Given the description of an element on the screen output the (x, y) to click on. 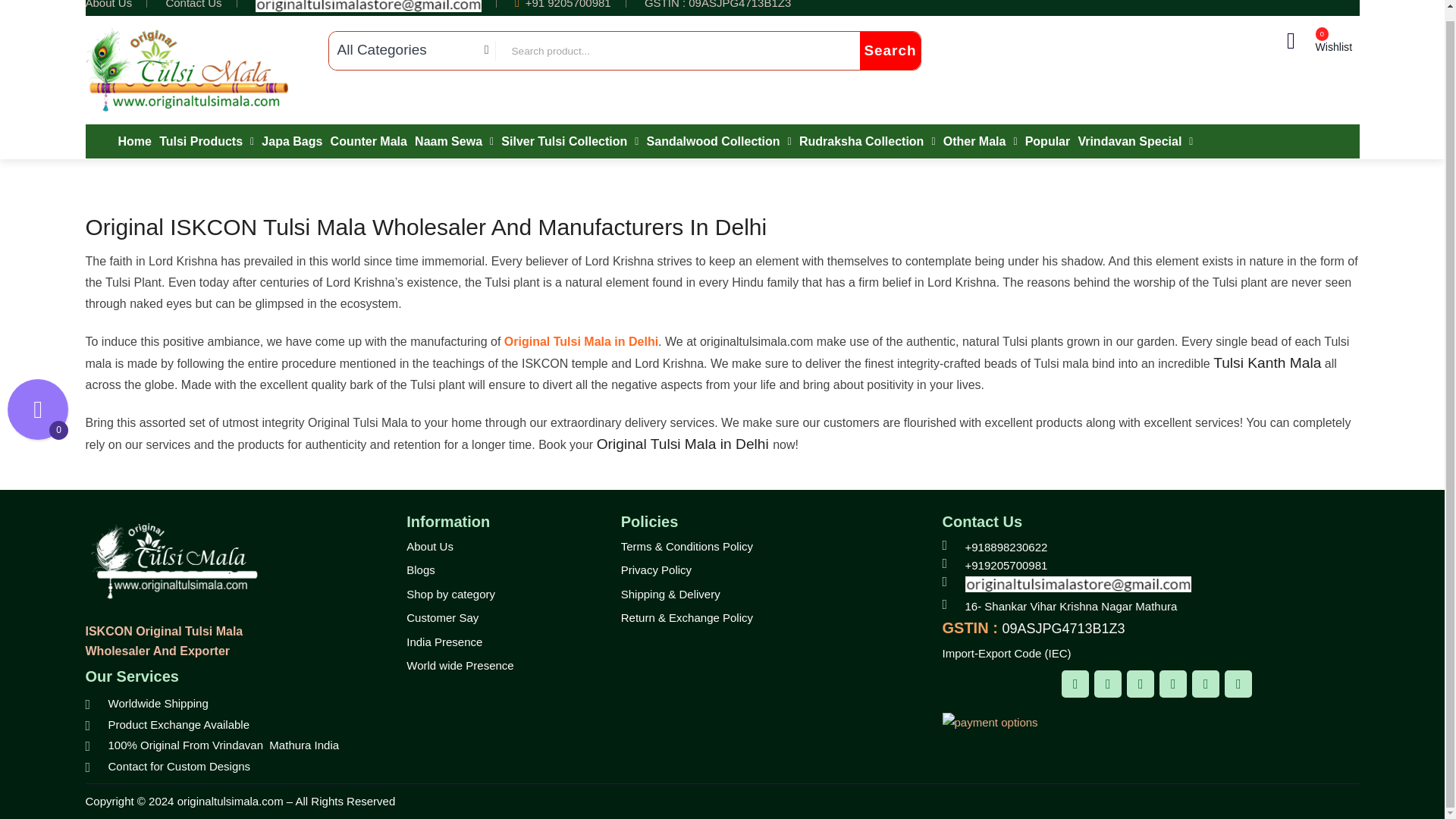
Facebook (1075, 683)
Twitter (1107, 683)
About Us (108, 4)
originaltulsimala.com (170, 561)
Pinterest (1172, 683)
originaltulsimala.com (186, 69)
Instagram (1140, 683)
Youtube (1238, 683)
Contact Us (193, 4)
Linkedin (1206, 683)
